Given the description of an element on the screen output the (x, y) to click on. 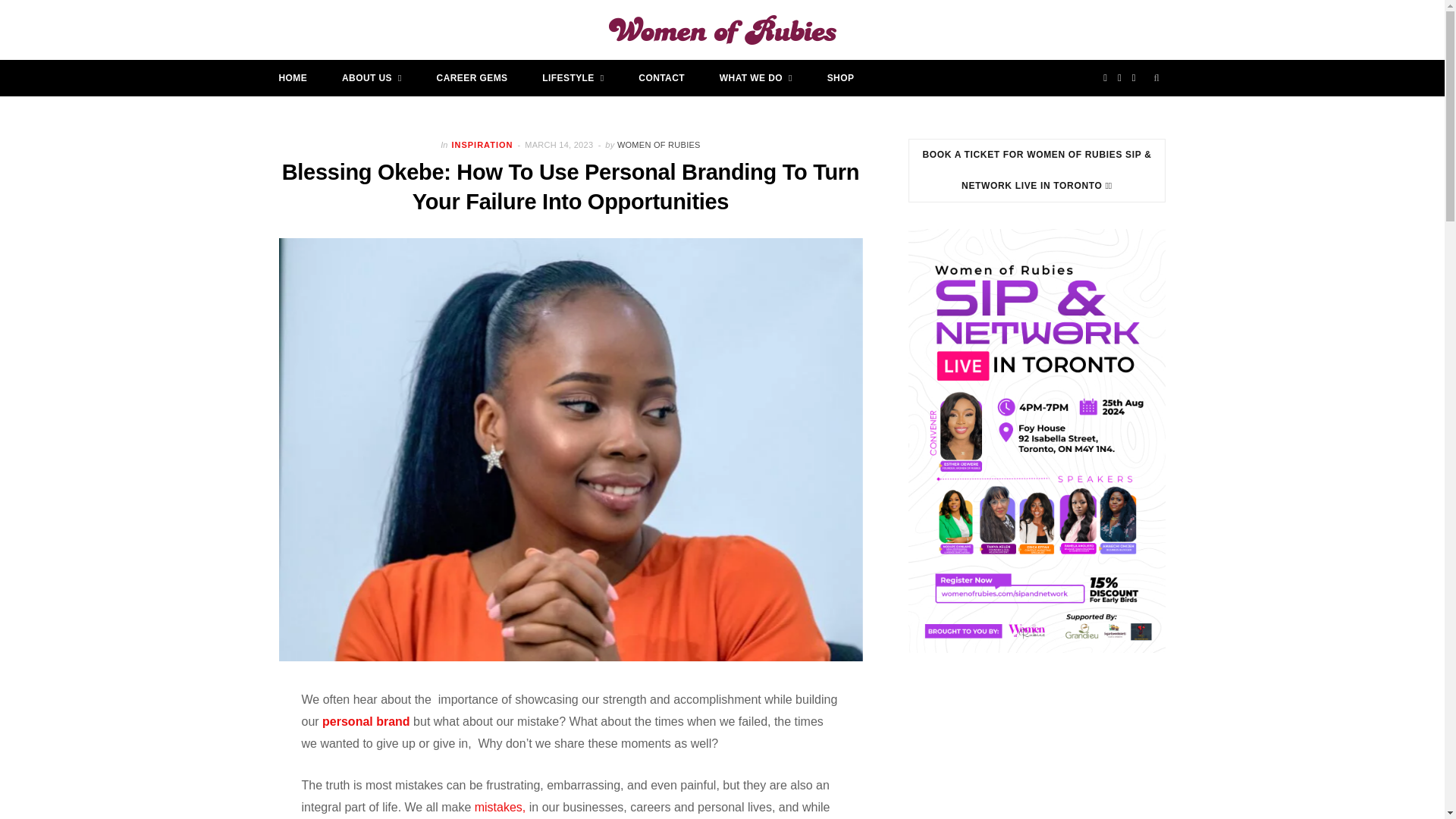
LIFESTYLE (572, 77)
personal brand (365, 721)
HOME (292, 77)
CAREER GEMS (472, 77)
WOMEN OF RUBIES (658, 144)
mistakes, (499, 807)
Women of Rubies (721, 30)
Advertisement (1059, 756)
SHOP (840, 77)
